Given the description of an element on the screen output the (x, y) to click on. 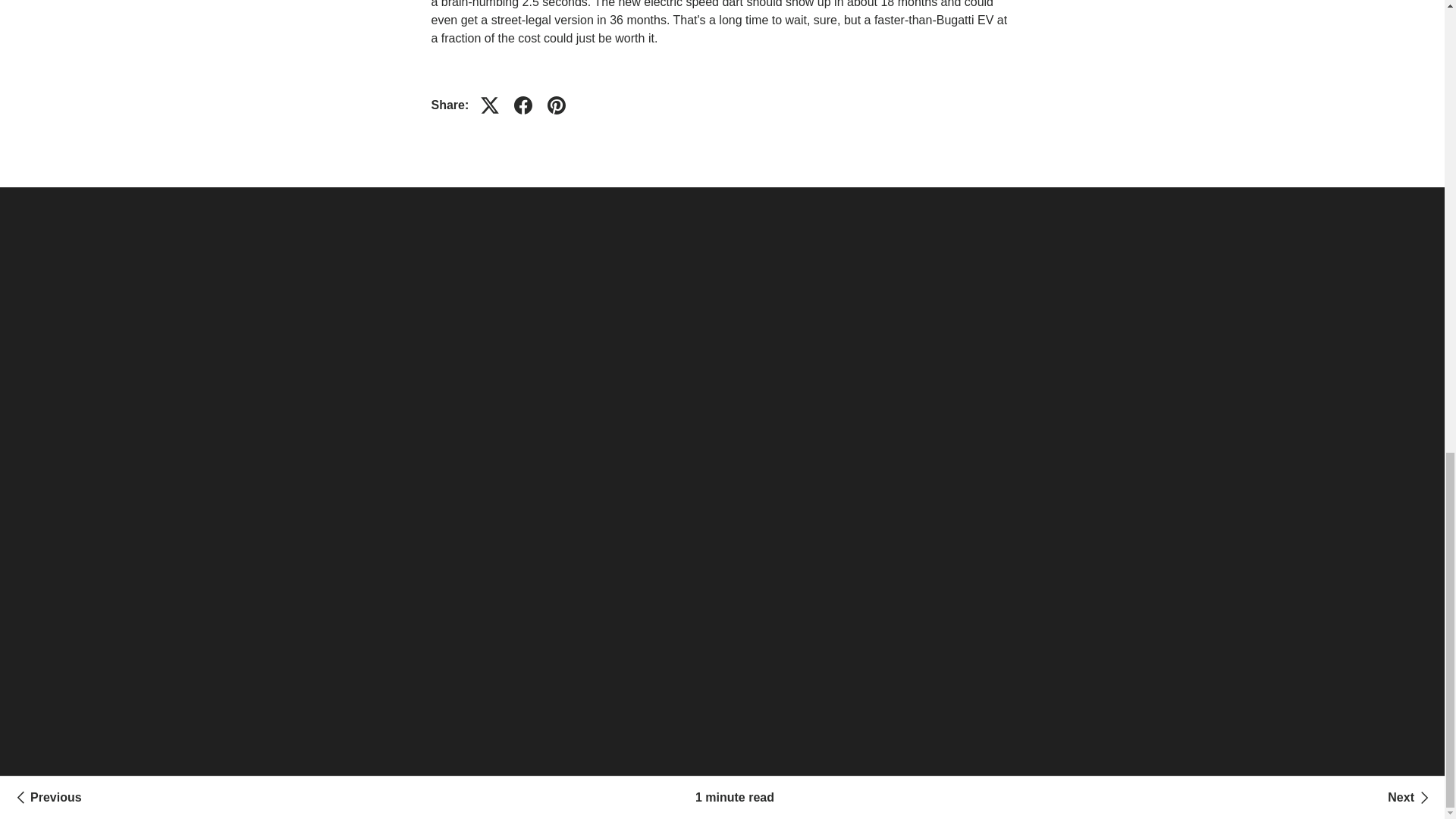
Pin on Pinterest (556, 105)
Tweet on X (489, 105)
Share on Facebook (523, 105)
